Given the description of an element on the screen output the (x, y) to click on. 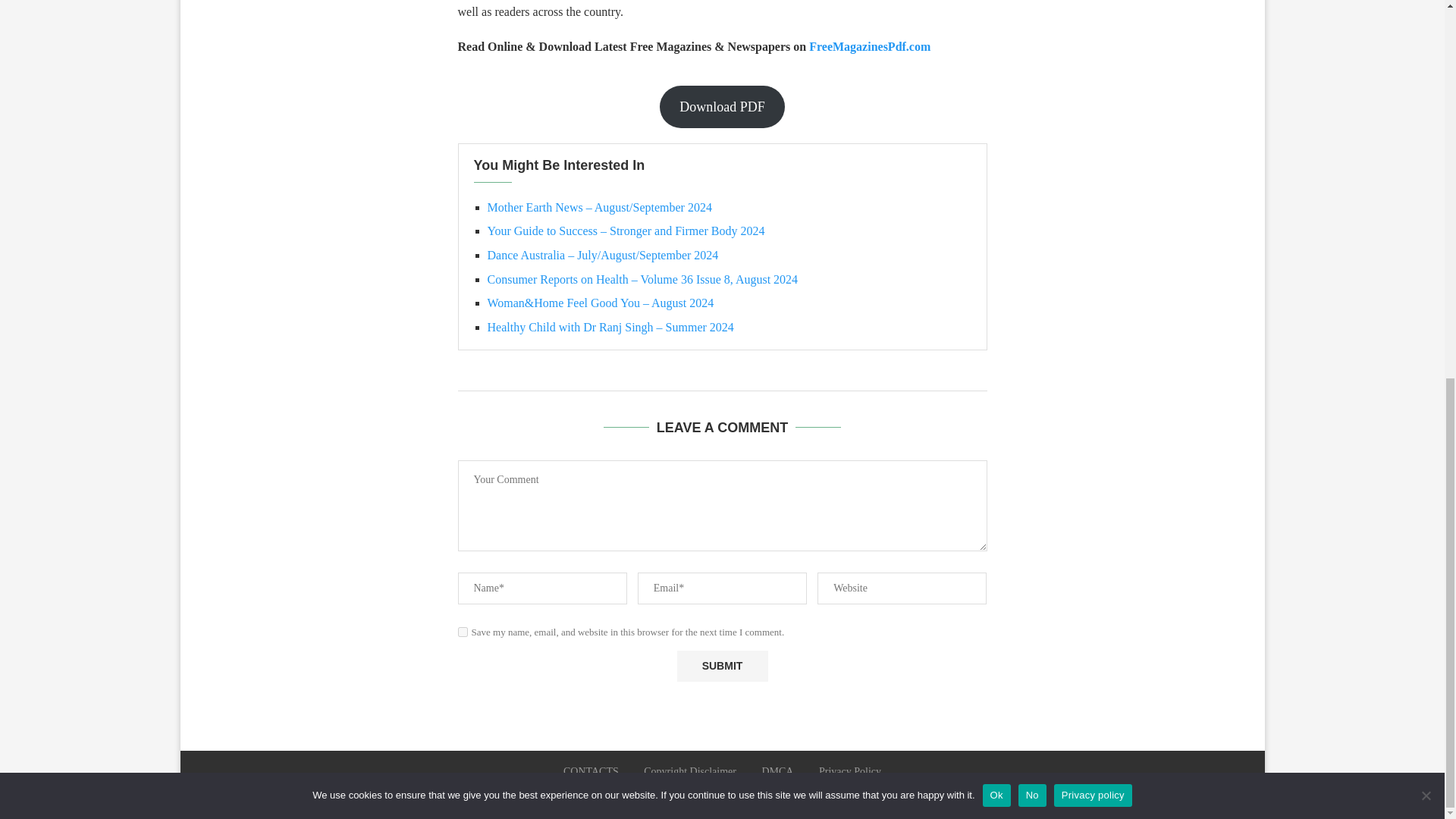
No (1425, 93)
Submit (722, 665)
yes (462, 632)
